Given the description of an element on the screen output the (x, y) to click on. 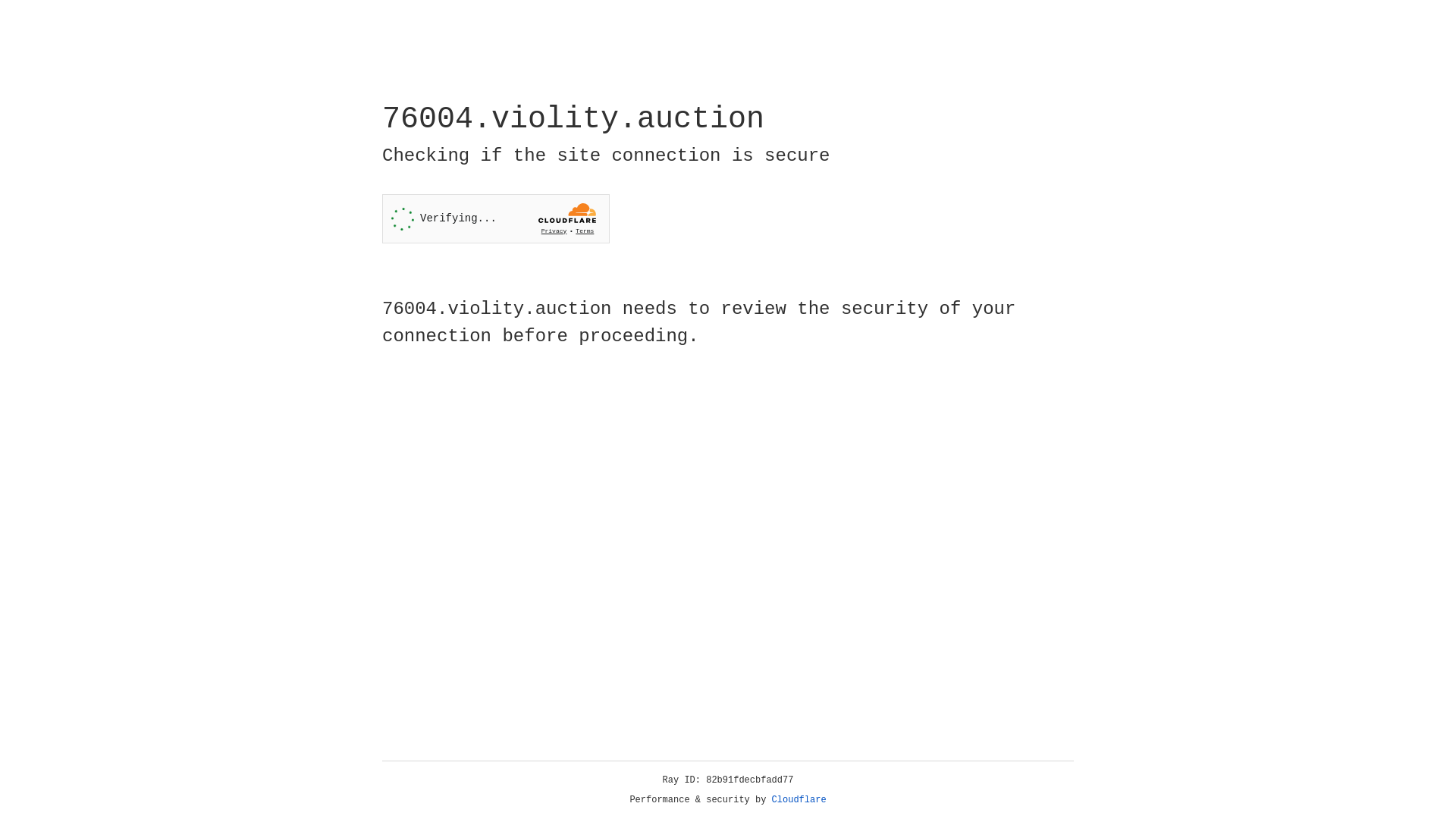
Widget containing a Cloudflare security challenge Element type: hover (495, 218)
Cloudflare Element type: text (798, 799)
